Given the description of an element on the screen output the (x, y) to click on. 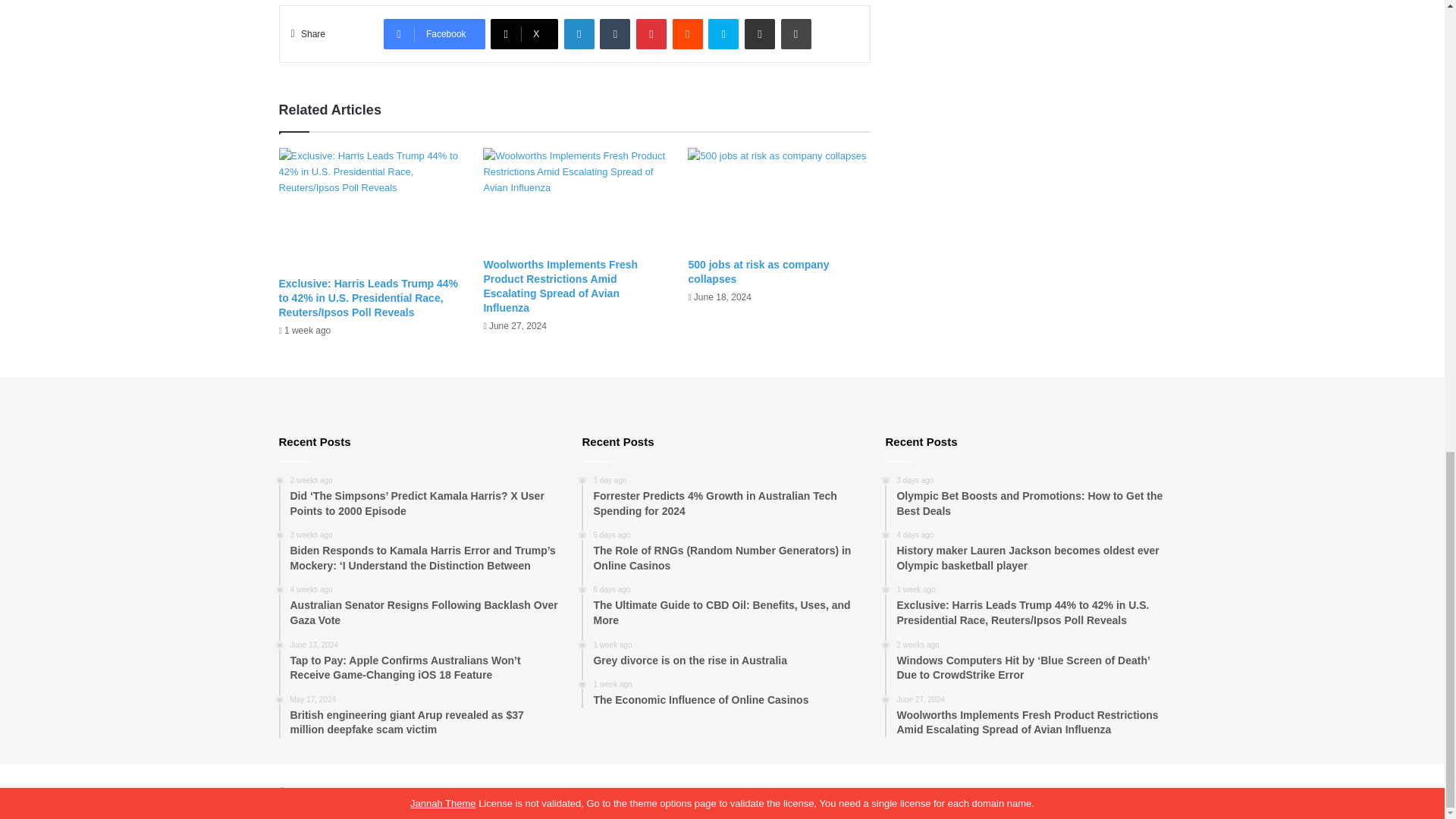
Tumblr (614, 33)
LinkedIn (579, 33)
X (523, 33)
Reddit (687, 33)
Tumblr (614, 33)
X (523, 33)
Reddit (687, 33)
Pinterest (651, 33)
Facebook (434, 33)
Facebook (434, 33)
Pinterest (651, 33)
Skype (722, 33)
Skype (722, 33)
LinkedIn (579, 33)
